Given the description of an element on the screen output the (x, y) to click on. 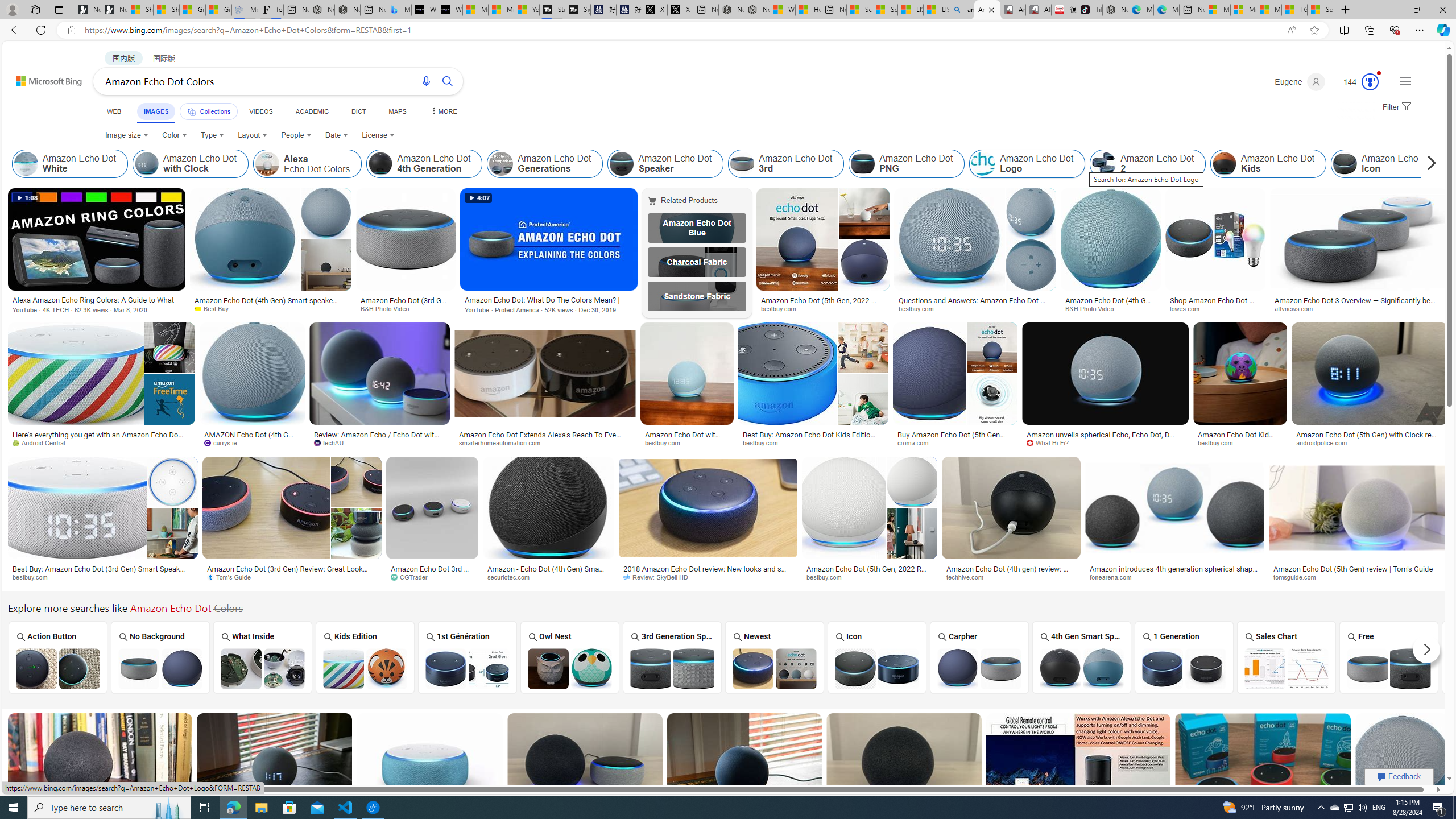
currys.ie (223, 442)
Amazon Echo Dot Kids (1268, 163)
smarterhomeautomation.com (544, 442)
